Given the description of an element on the screen output the (x, y) to click on. 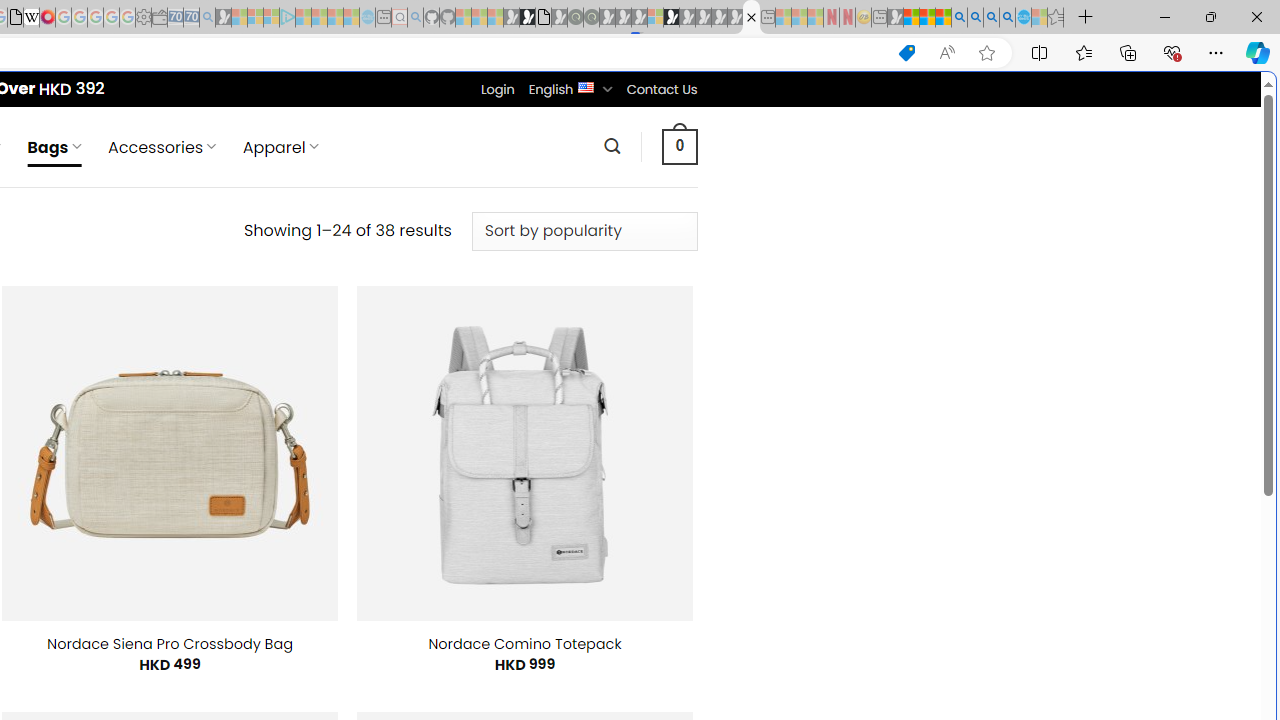
Contact Us (661, 89)
